Given the description of an element on the screen output the (x, y) to click on. 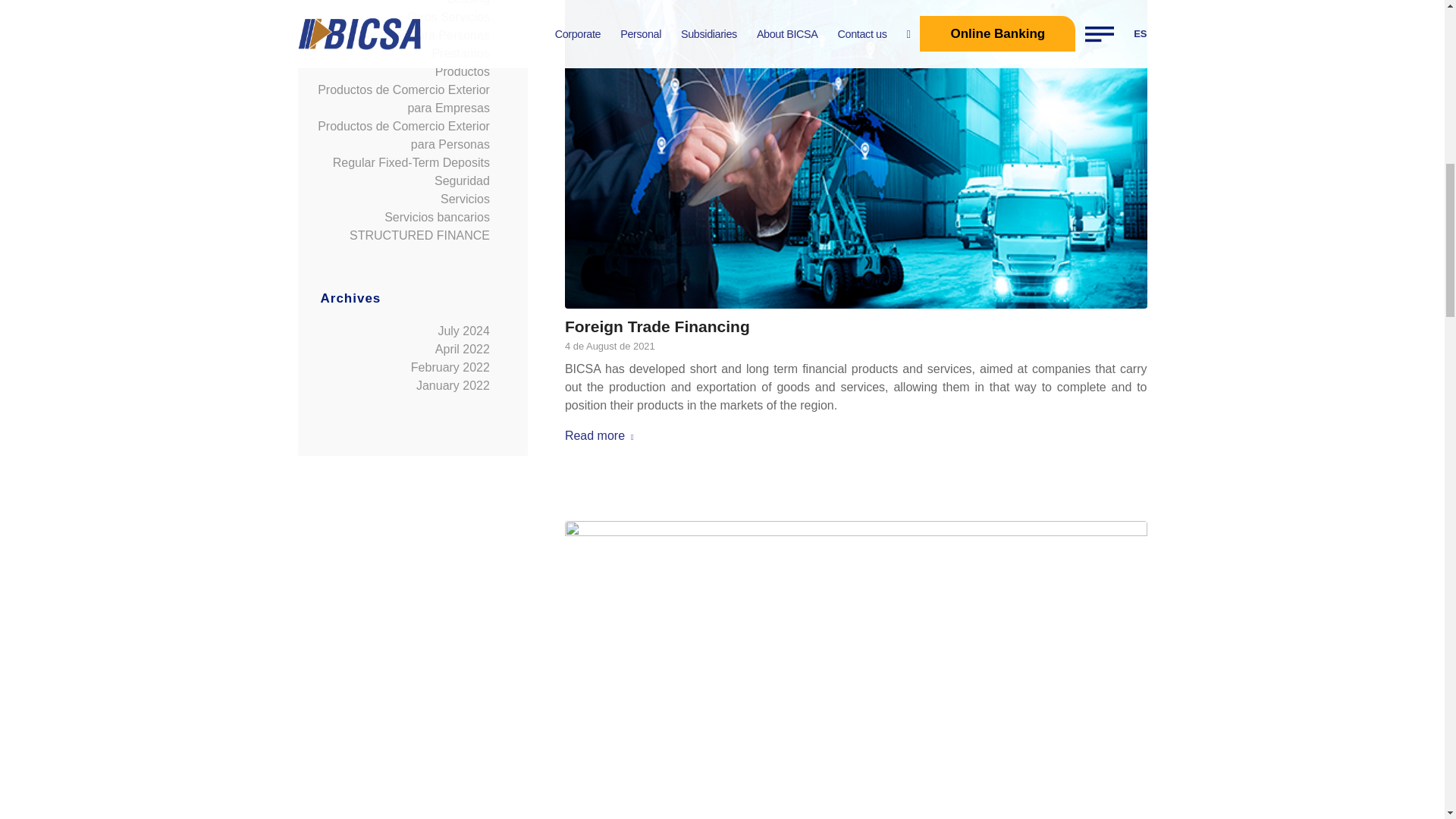
Permanent Link: Foreign Trade Financing (656, 325)
